Given the description of an element on the screen output the (x, y) to click on. 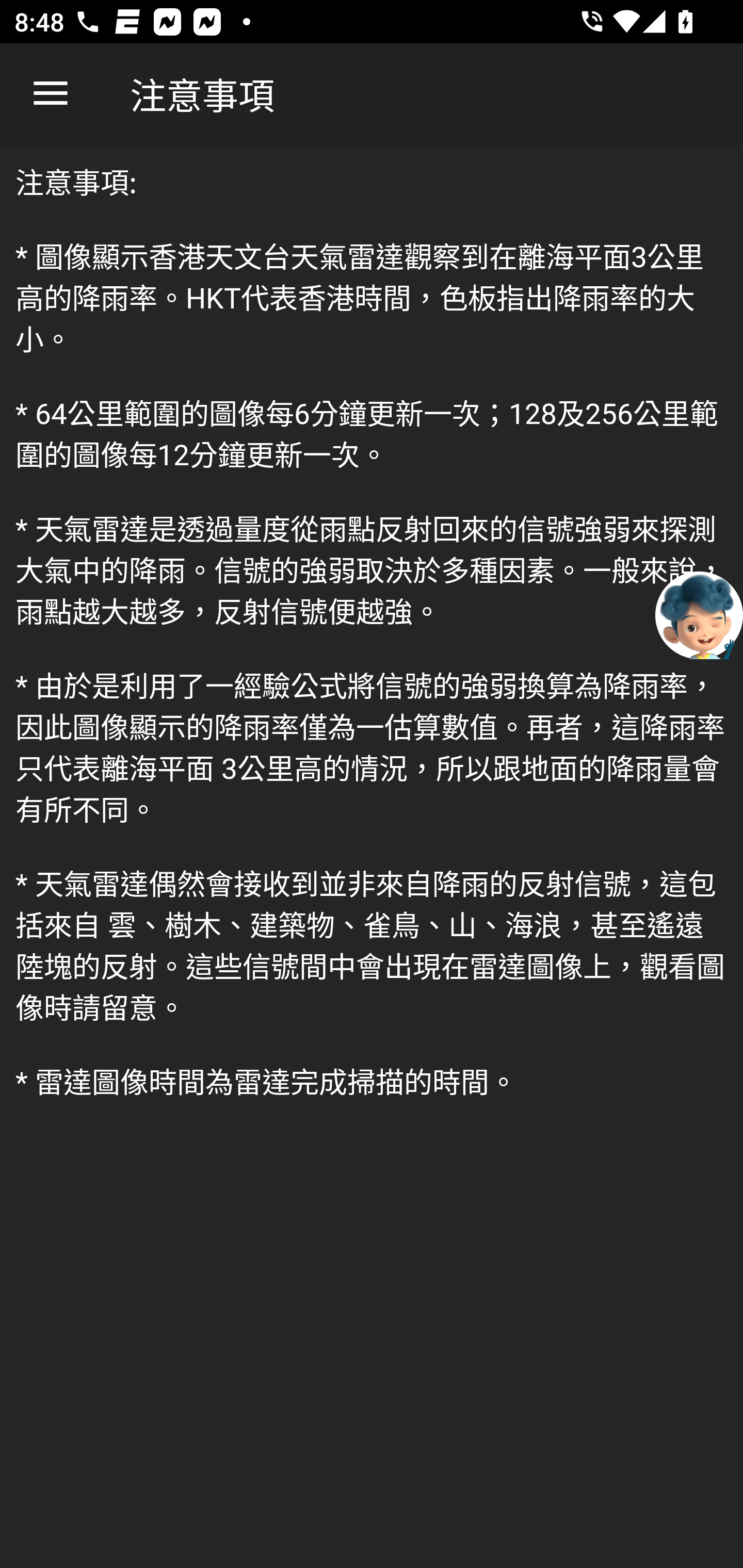
向上瀏覽 (50, 93)
聊天機械人 (699, 614)
